Given the description of an element on the screen output the (x, y) to click on. 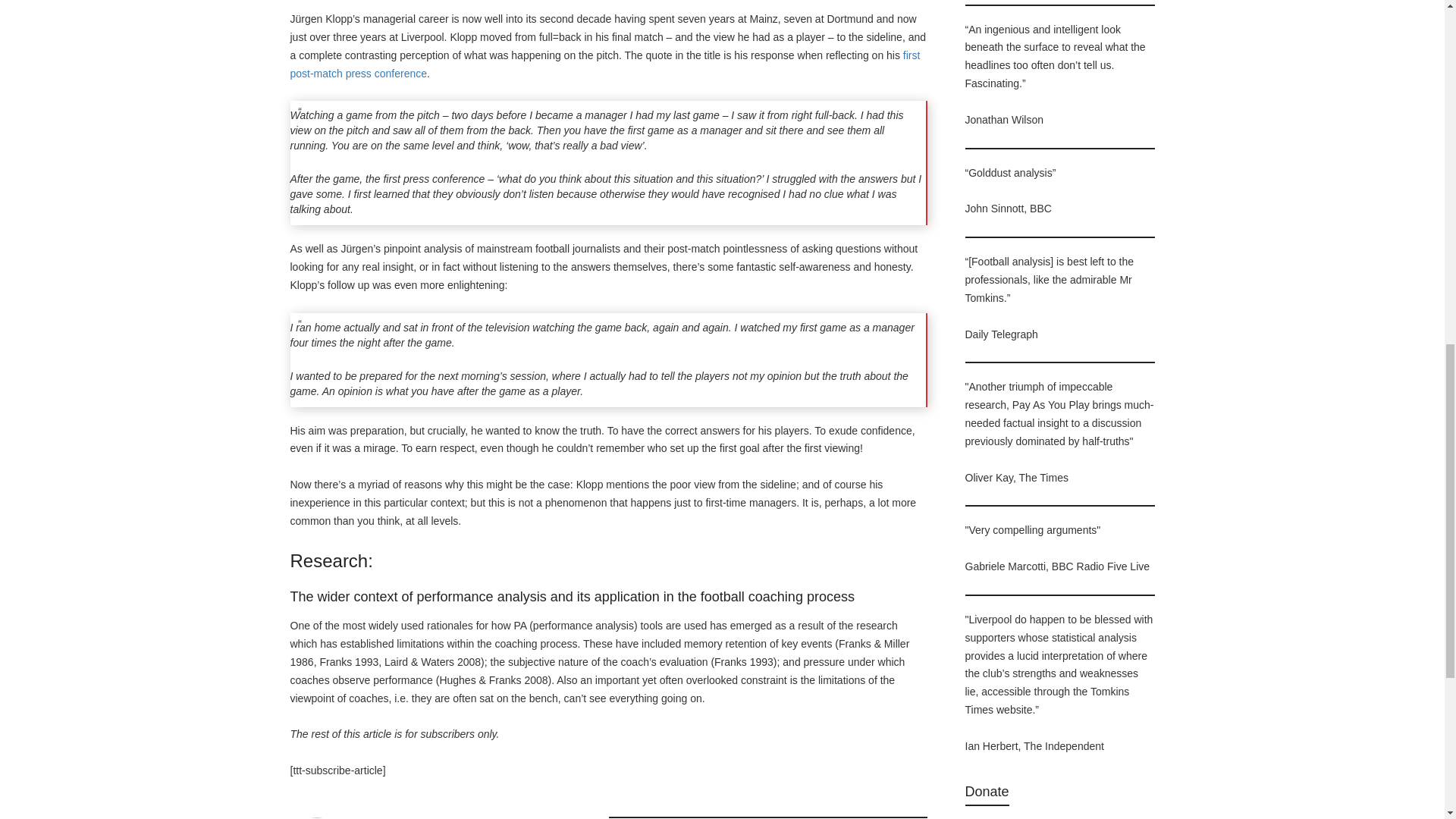
first post-match press conference (604, 64)
